Given the description of an element on the screen output the (x, y) to click on. 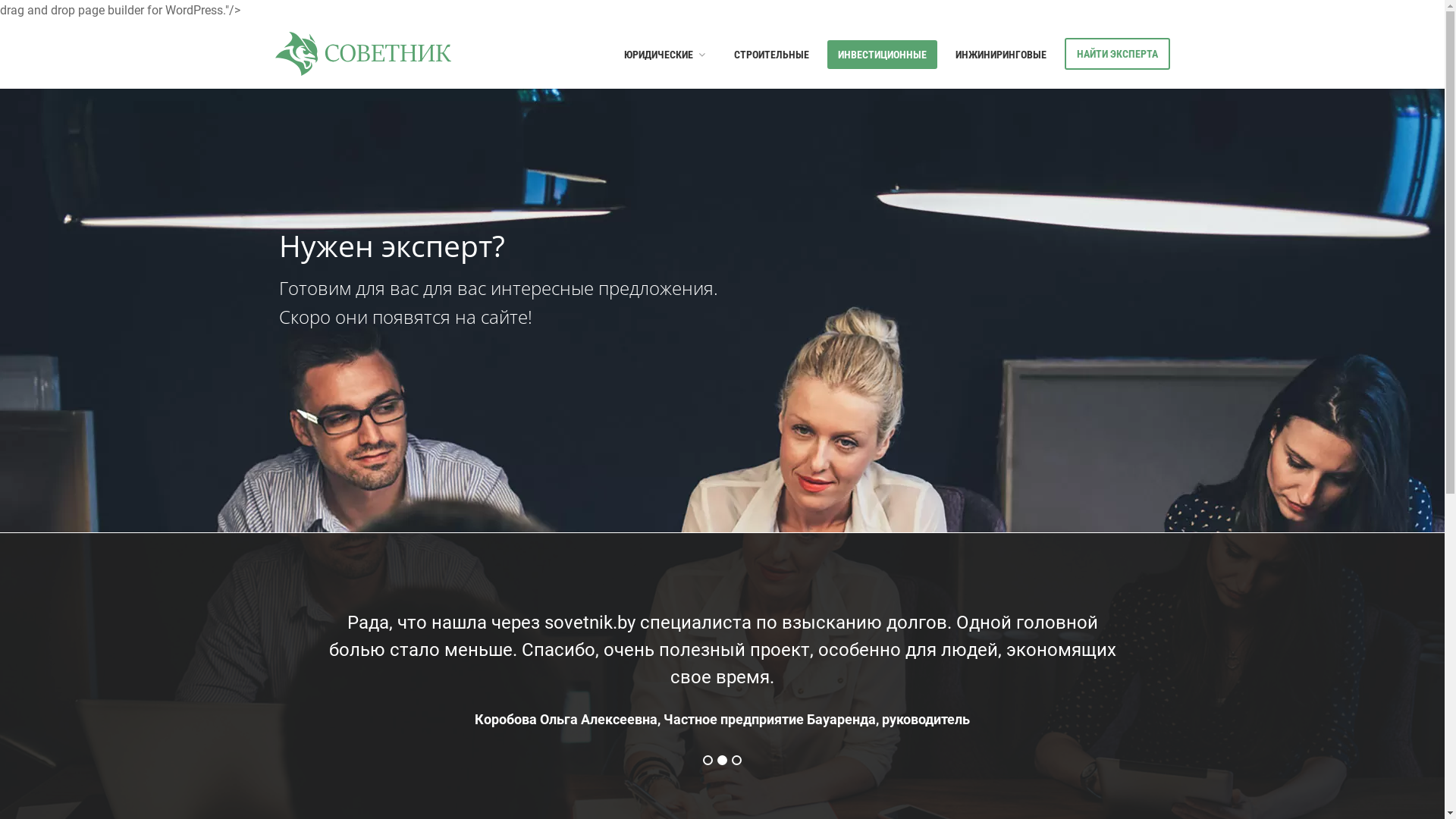
2 Element type: text (722, 760)
1 Element type: text (707, 760)
3 Element type: text (736, 760)
